Given the description of an element on the screen output the (x, y) to click on. 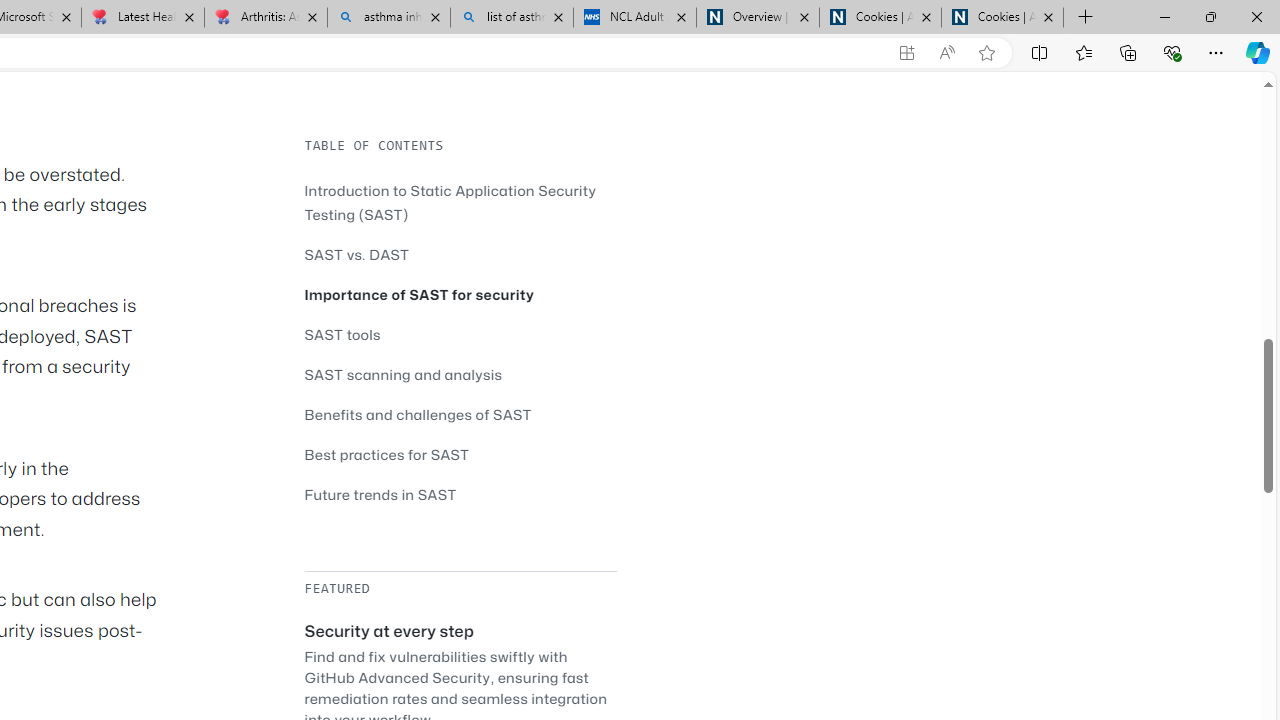
SAST vs. DAST (356, 254)
Benefits and challenges of SAST (418, 414)
SAST tools (342, 334)
SAST scanning and analysis (403, 374)
Future trends in SAST (380, 494)
SAST tools (460, 334)
